Given the description of an element on the screen output the (x, y) to click on. 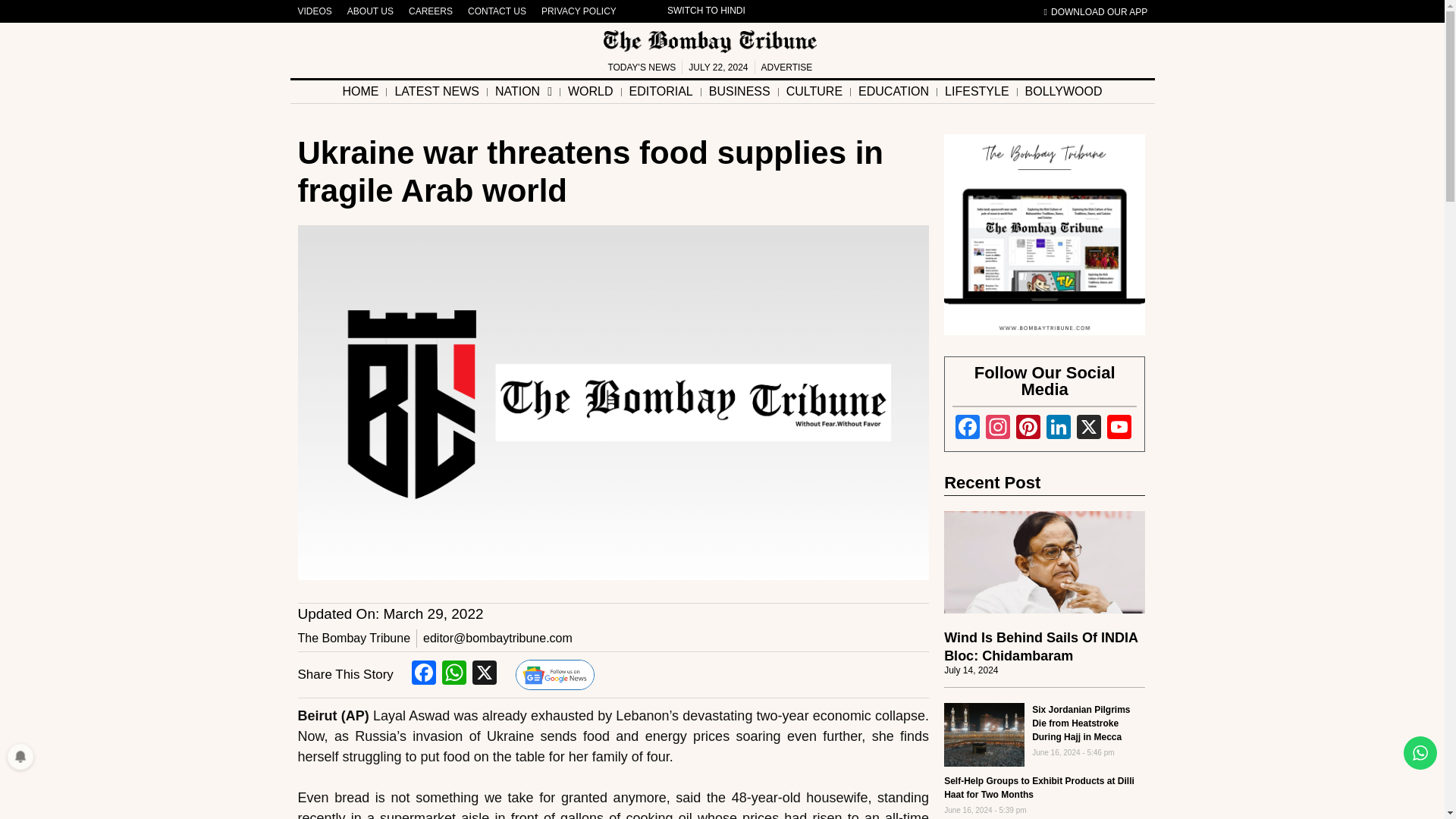
Facebook (967, 428)
CONTACT US (497, 11)
Instagram (997, 428)
Pinterest (1028, 428)
ABOUT US (370, 11)
DOWNLOAD OUR APP (1096, 12)
LinkedIn Company (1058, 428)
X (483, 674)
X (1088, 428)
PRIVACY POLICY (579, 11)
CAREERS (430, 11)
Facebook (424, 674)
VIDEOS (314, 11)
YouTube Channel (1118, 428)
SWITCH TO HINDI (706, 10)
